Given the description of an element on the screen output the (x, y) to click on. 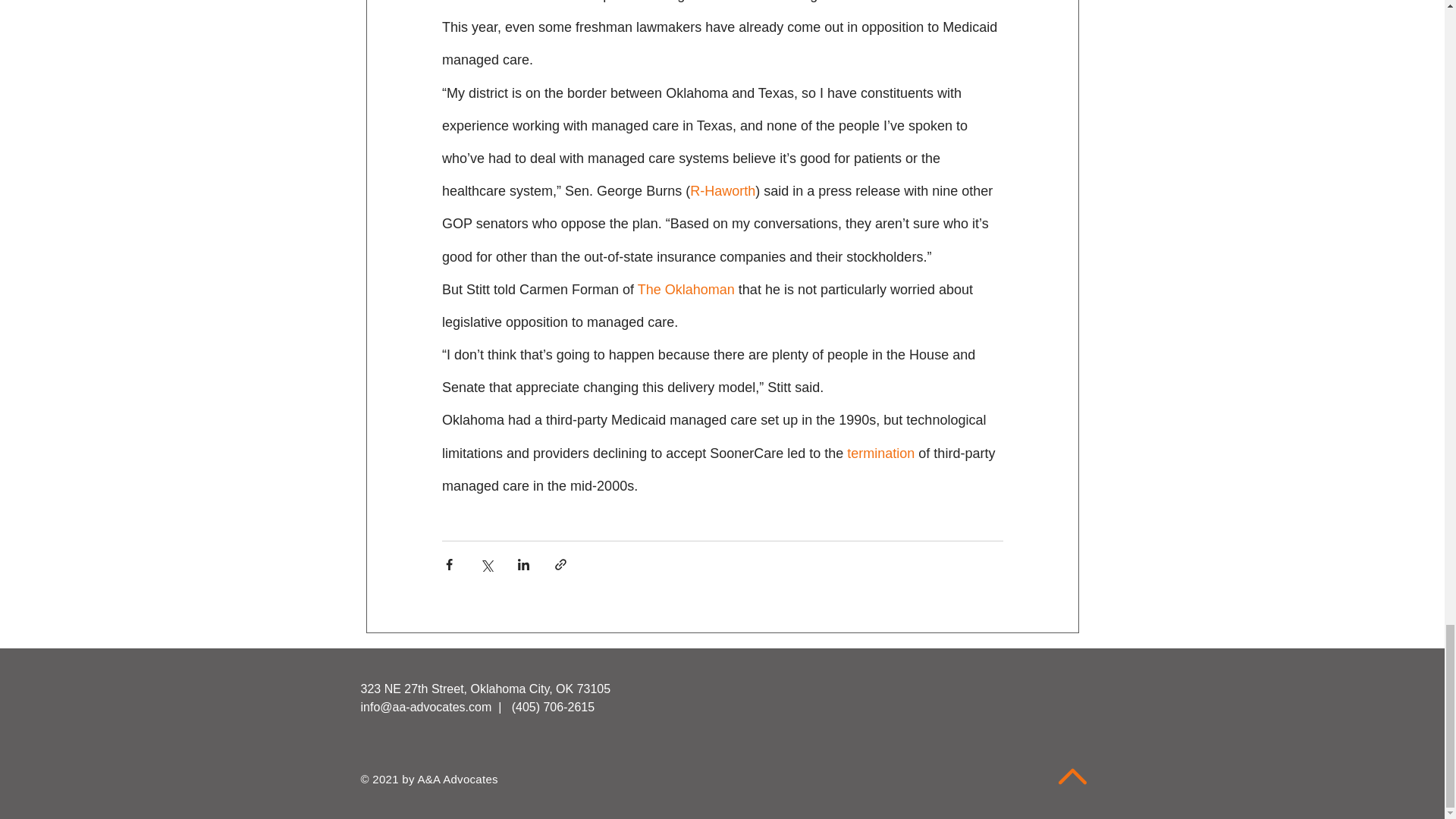
The Oklahoman (685, 289)
R-Haworth (722, 191)
termination (880, 453)
